Given the description of an element on the screen output the (x, y) to click on. 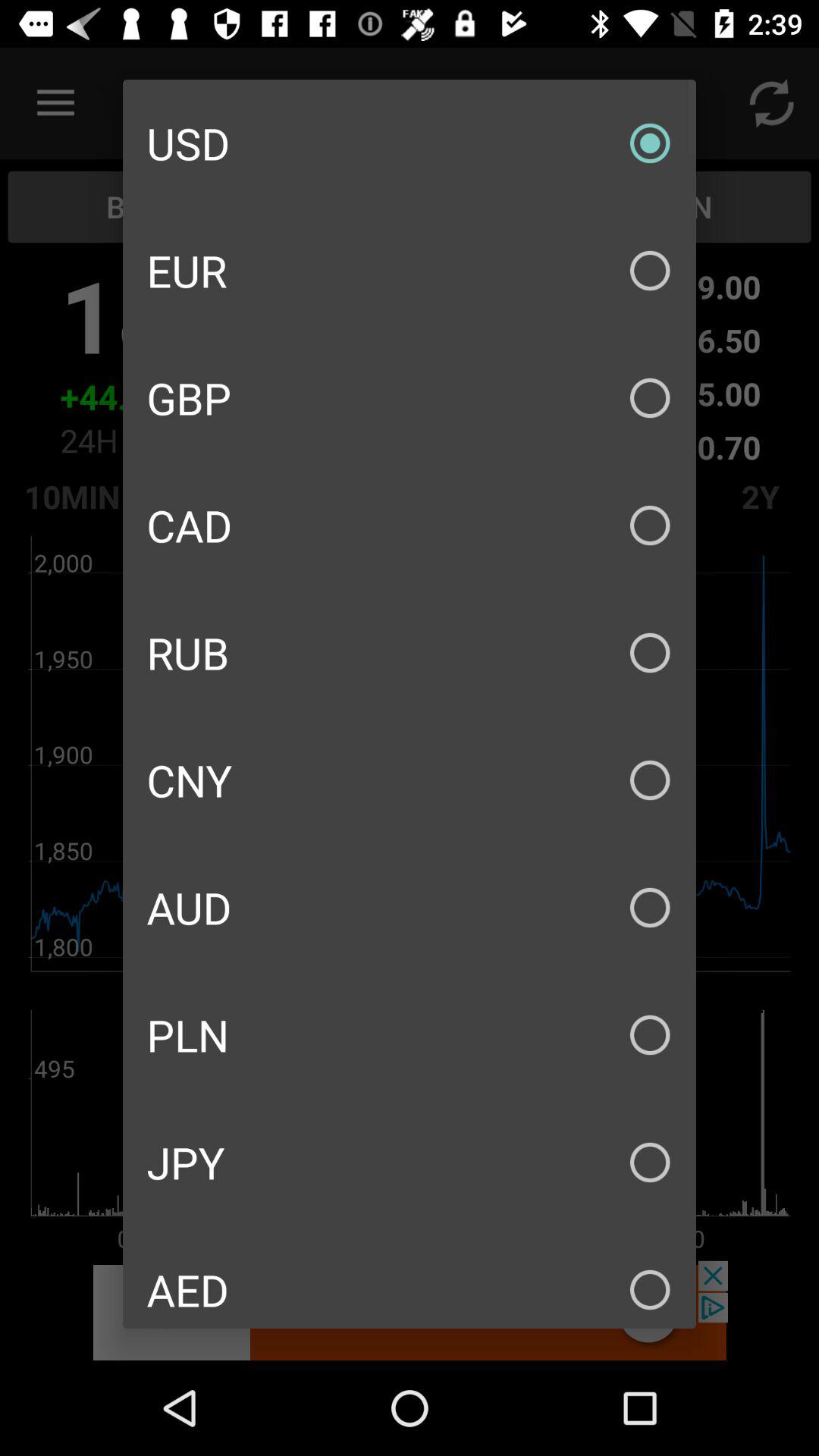
click item above aud (409, 780)
